Given the description of an element on the screen output the (x, y) to click on. 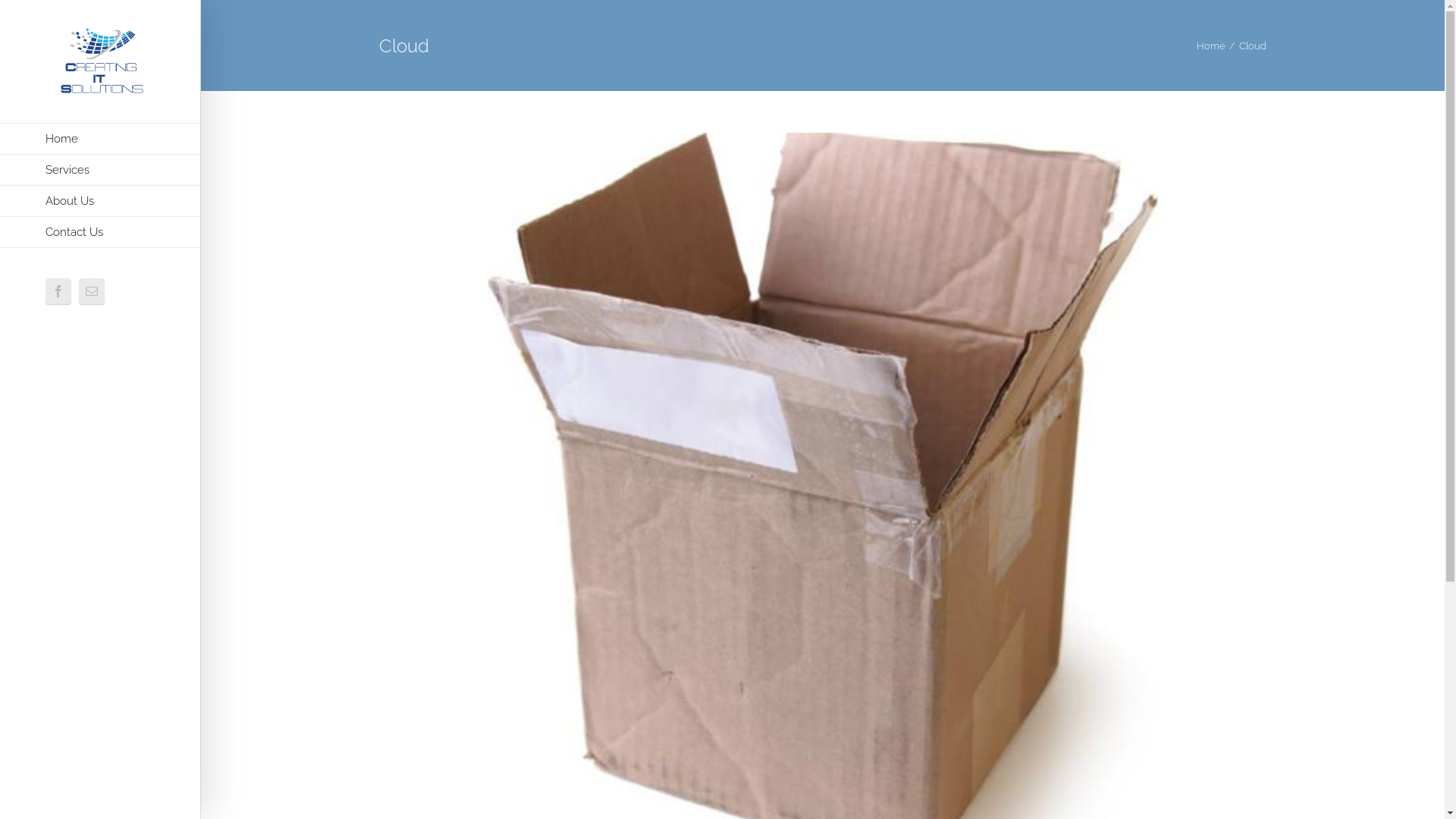
About Us Element type: text (100, 200)
Services Element type: text (100, 169)
Home Element type: text (1210, 44)
Contact Us Element type: text (100, 231)
Home Element type: text (100, 138)
